Given the description of an element on the screen output the (x, y) to click on. 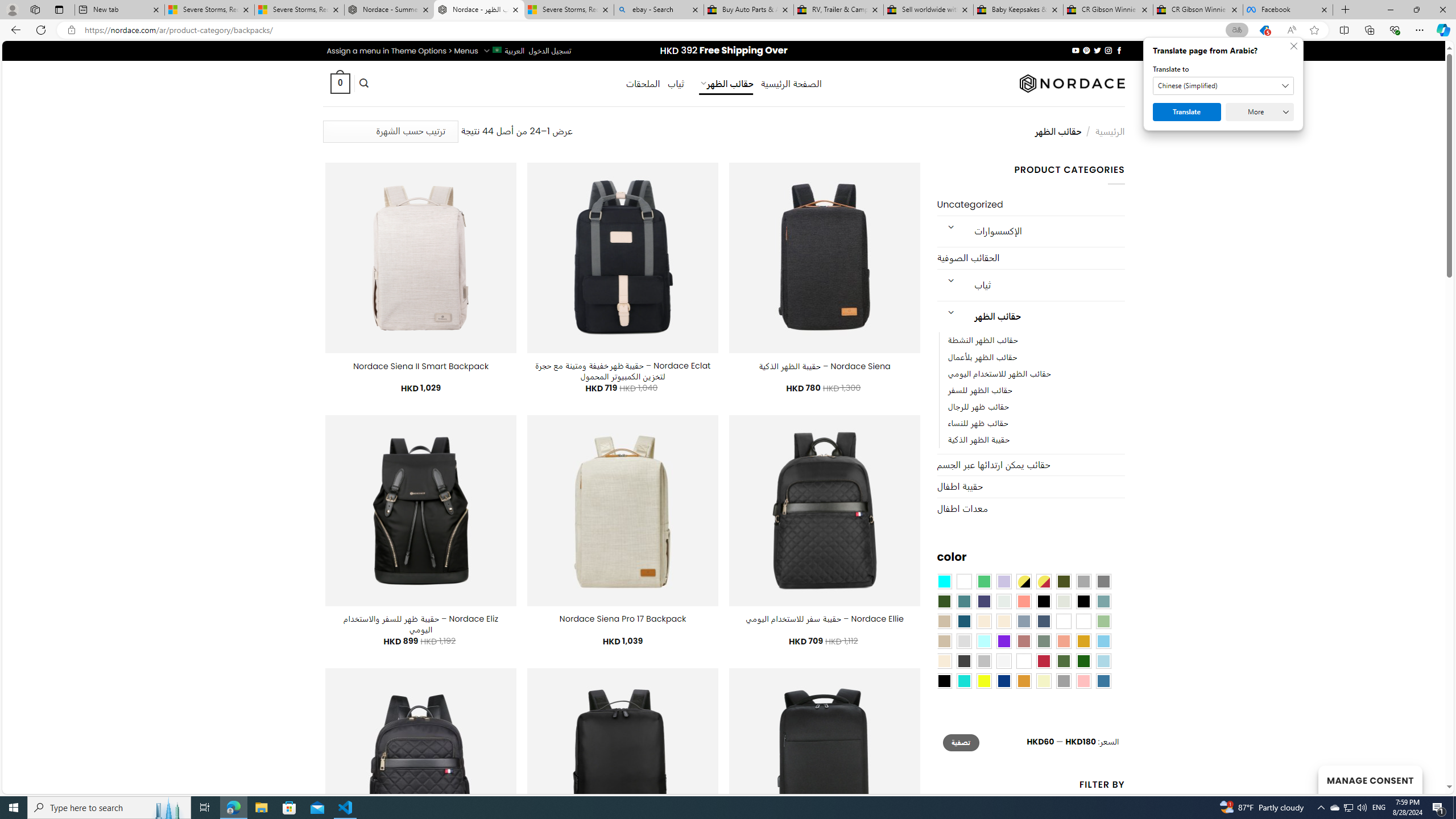
Blue Sage (1103, 601)
Emerald Green (983, 581)
Show translate options (1236, 29)
Teal (963, 601)
This site has coupons! Shopping in Microsoft Edge, 5 (1263, 29)
